Given the description of an element on the screen output the (x, y) to click on. 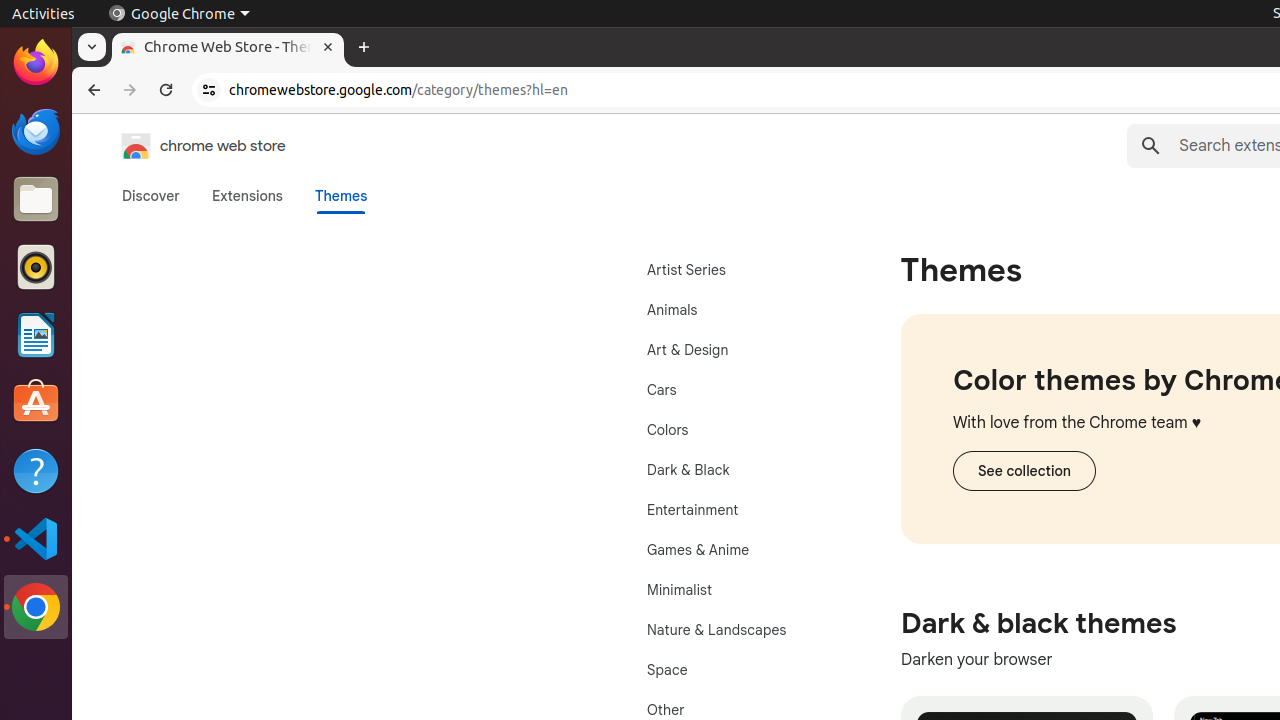
Forward Element type: push-button (130, 90)
View site information Element type: push-button (209, 90)
Ubuntu Software Element type: push-button (36, 402)
Firefox Web Browser Element type: push-button (36, 63)
New Tab Element type: push-button (364, 47)
